Given the description of an element on the screen output the (x, y) to click on. 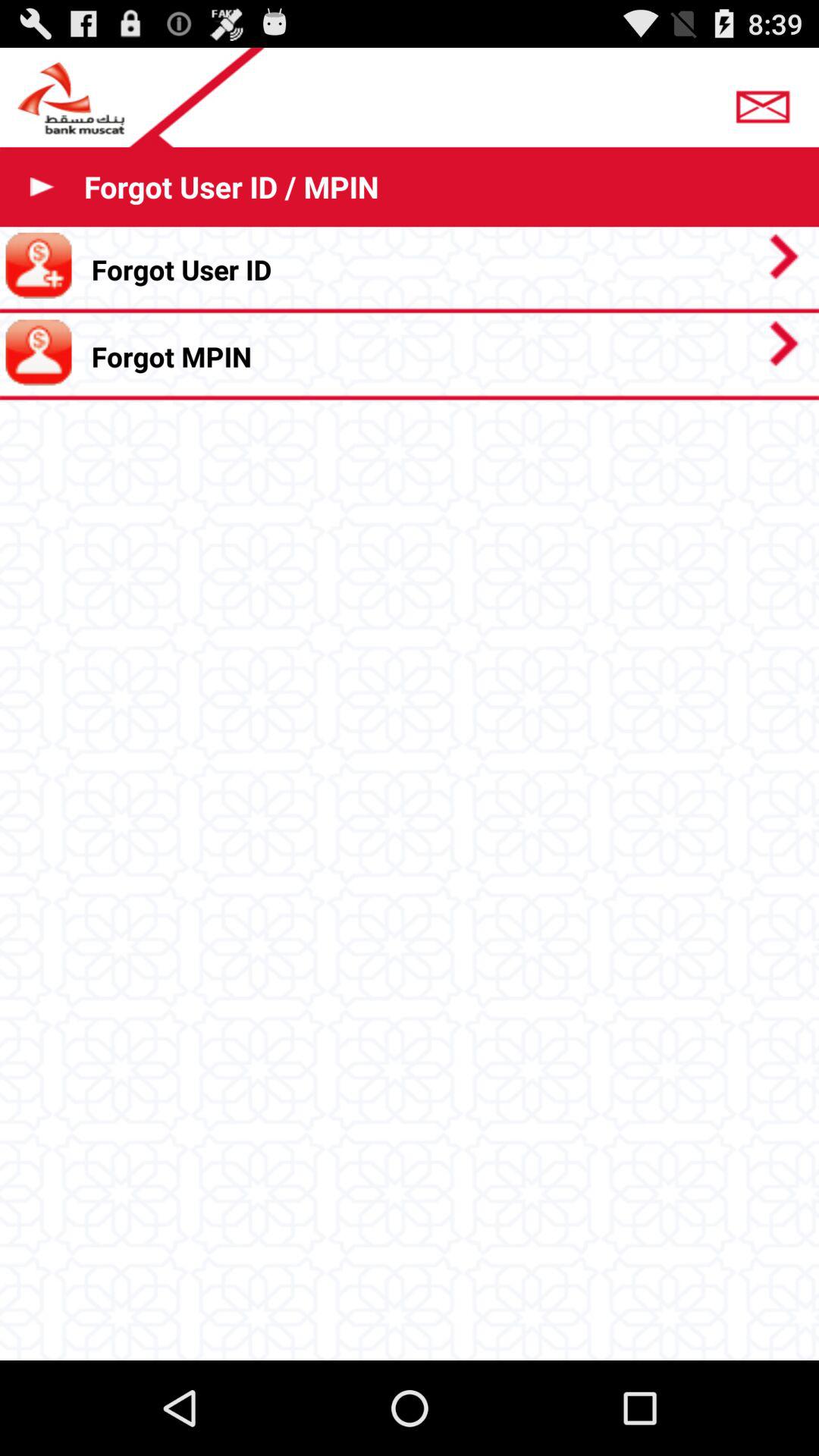
go to inbox (767, 101)
